Given the description of an element on the screen output the (x, y) to click on. 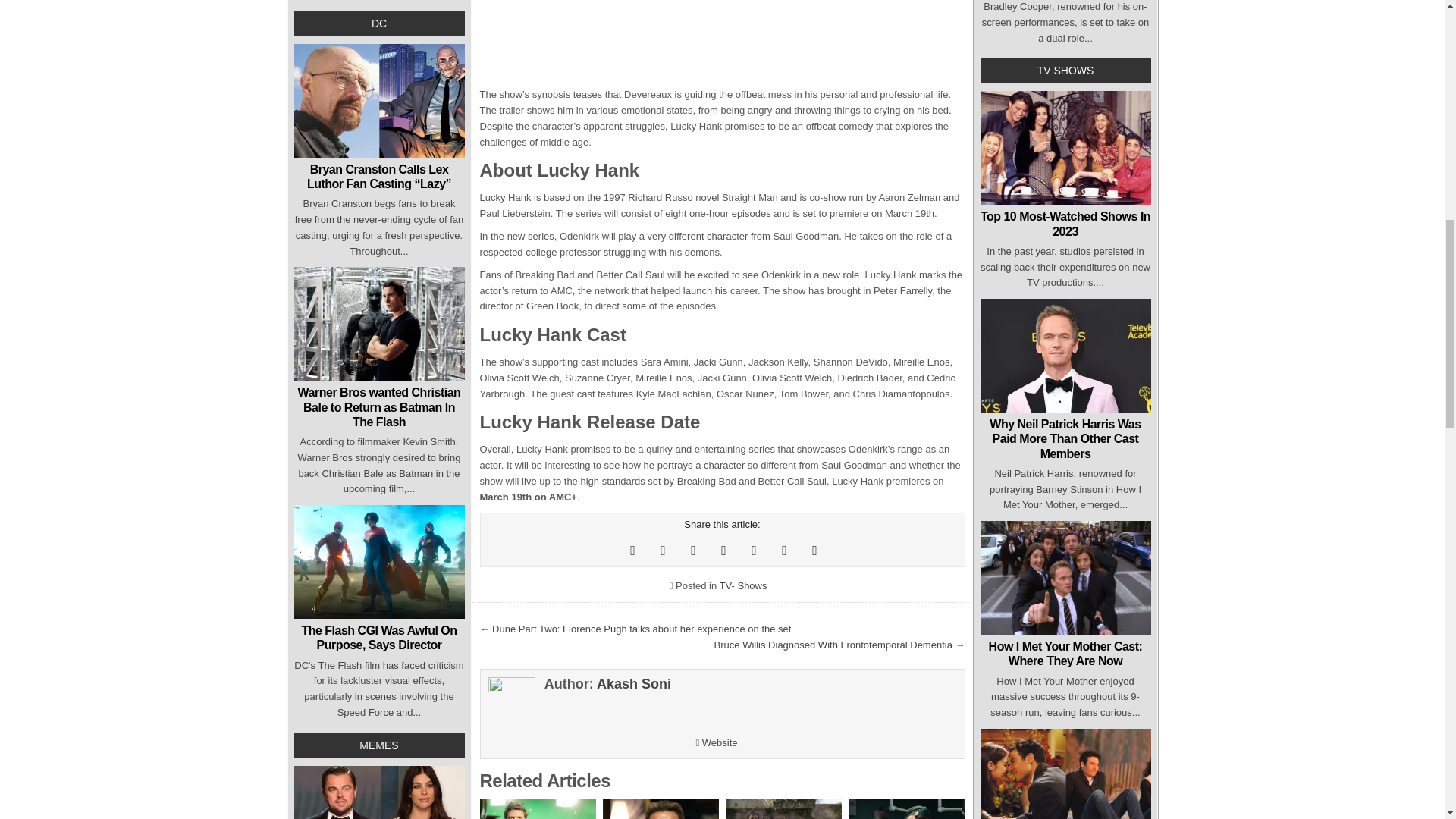
Share this on Facebook (662, 550)
YouTube video player (721, 43)
Share this on VK (814, 550)
Share this on Pinterest (692, 550)
Akash Soni (633, 683)
TV- Shows (743, 585)
Tweet This! (632, 550)
Share this on Linkedin (783, 550)
Share this on Digg (753, 550)
Website (715, 742)
Website (715, 742)
Share this on Reddit (723, 550)
